Given the description of an element on the screen output the (x, y) to click on. 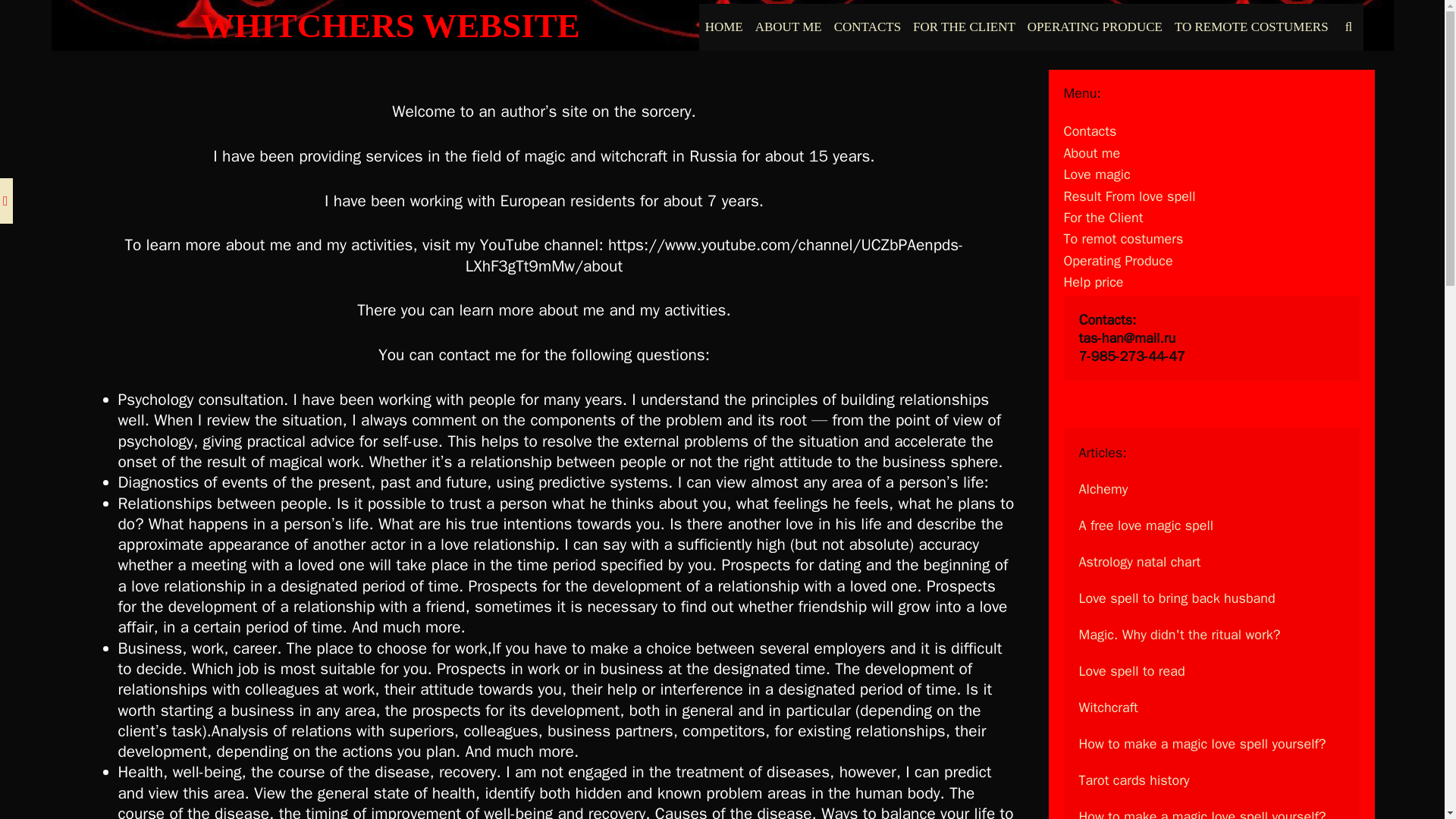
How to make a magic love spell yourself? (1201, 743)
HOME (723, 27)
Alchemy (1102, 488)
How to make a magic love spell yourself? (1201, 813)
Astrology natal chart (1138, 561)
Witchcraft (1107, 707)
To remot costumers (1122, 238)
Result From love spell (1128, 196)
Love magic (1095, 174)
CONTACTS (867, 27)
TO REMOTE COSTUMERS (1252, 27)
A free love magic spell (1145, 524)
Contacts (1089, 130)
OPERATING PRODUCE (1095, 27)
Tarot cards history (1133, 780)
